Given the description of an element on the screen output the (x, y) to click on. 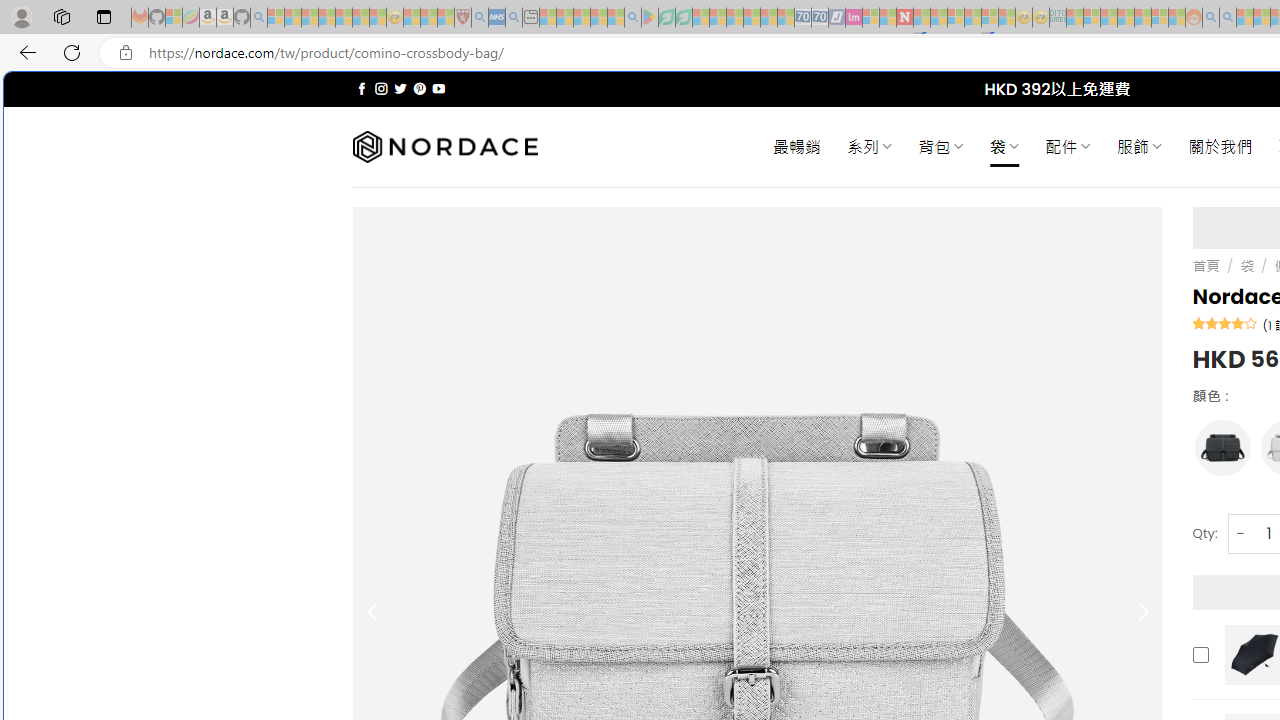
Jobs - lastminute.com Investor Portal - Sleeping (853, 17)
Follow on Facebook (361, 88)
